Given the description of an element on the screen output the (x, y) to click on. 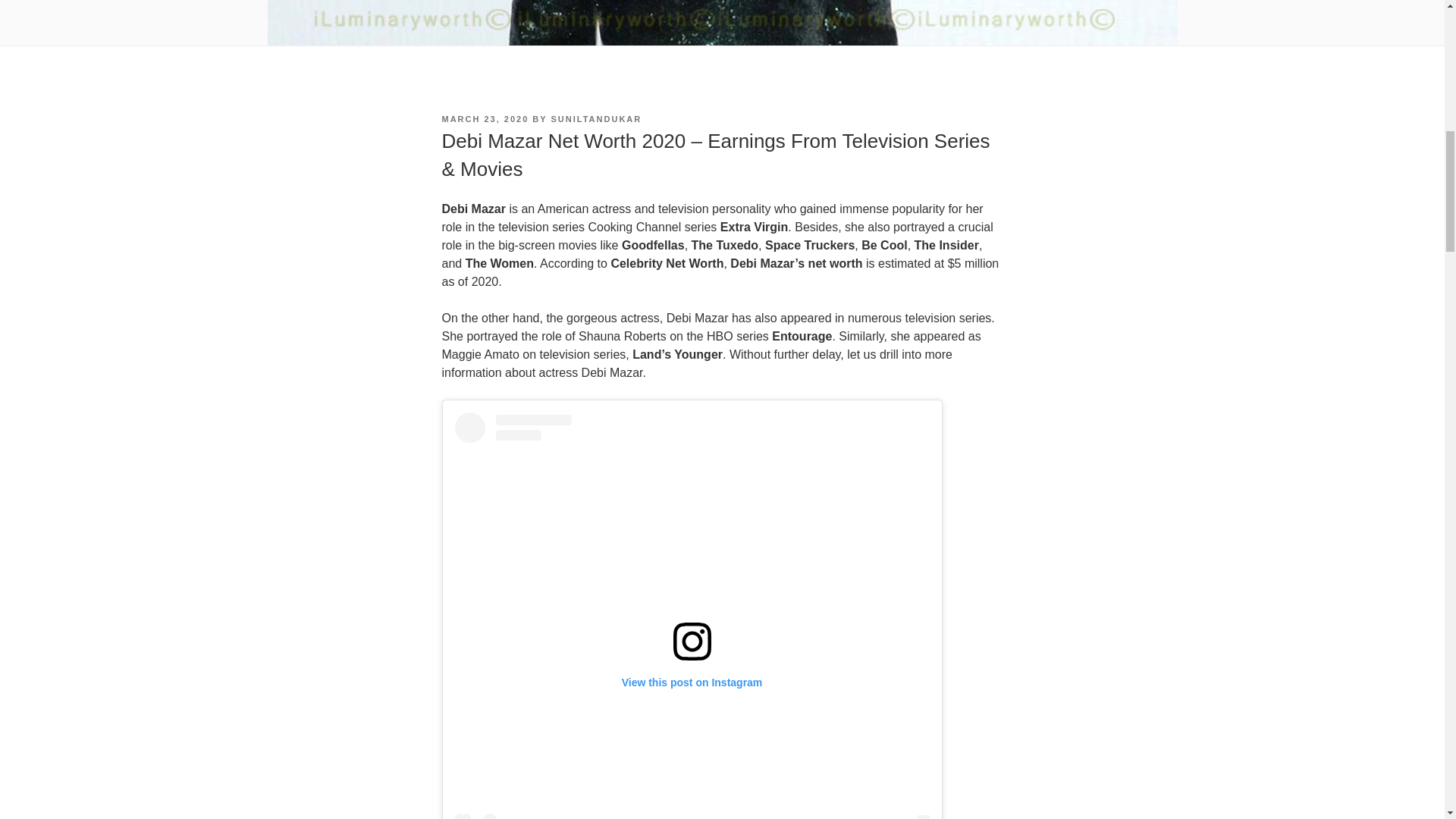
MARCH 23, 2020 (484, 118)
SUNILTANDUKAR (596, 118)
